Given the description of an element on the screen output the (x, y) to click on. 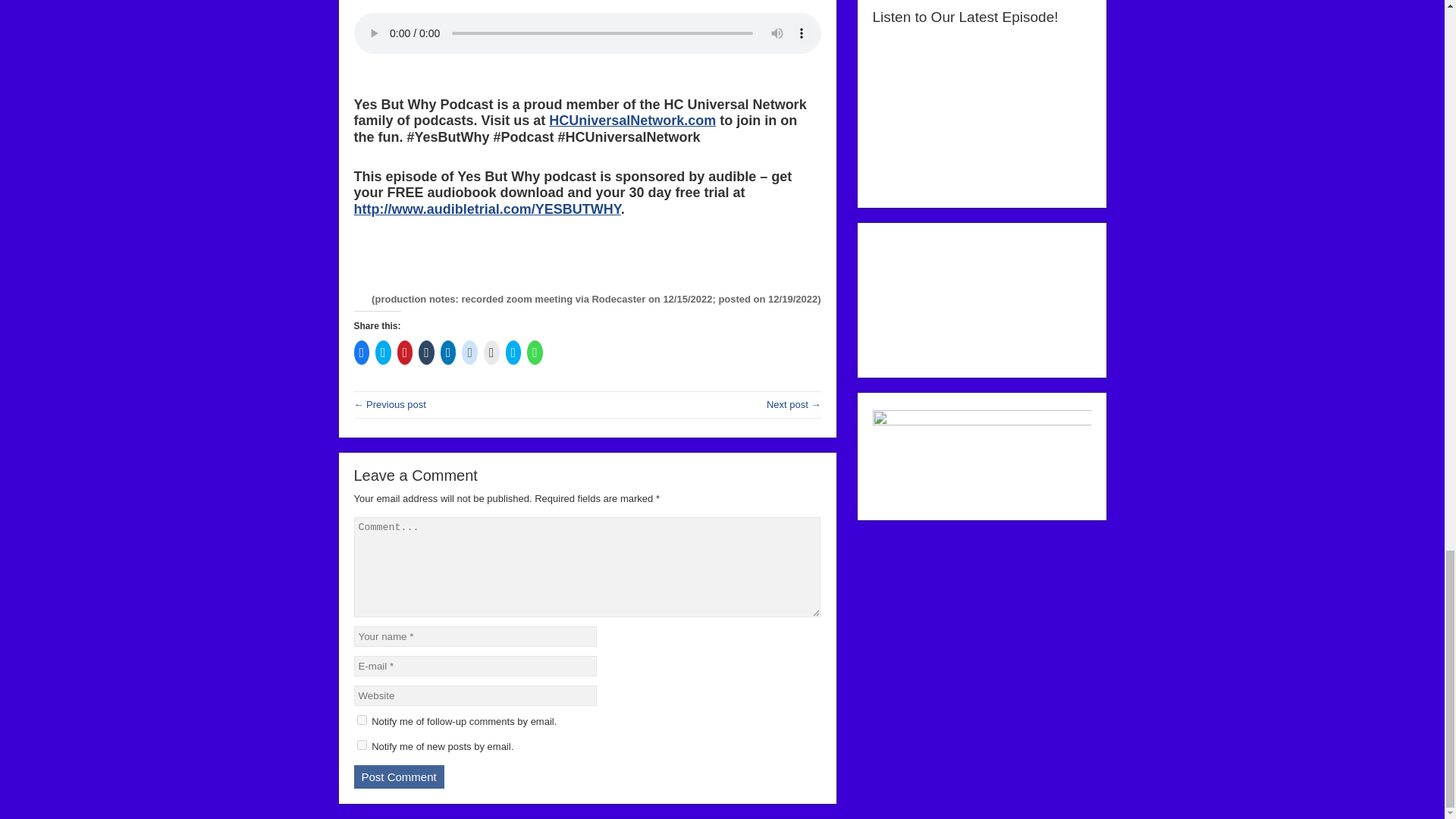
subscribe (361, 719)
HCUniversalNetwork.com (632, 120)
Post Comment (398, 776)
Post Comment (398, 776)
YBY ep 328: Reid Messerschmidt is Irrationally Exuberant (389, 404)
subscribe (361, 745)
